Given the description of an element on the screen output the (x, y) to click on. 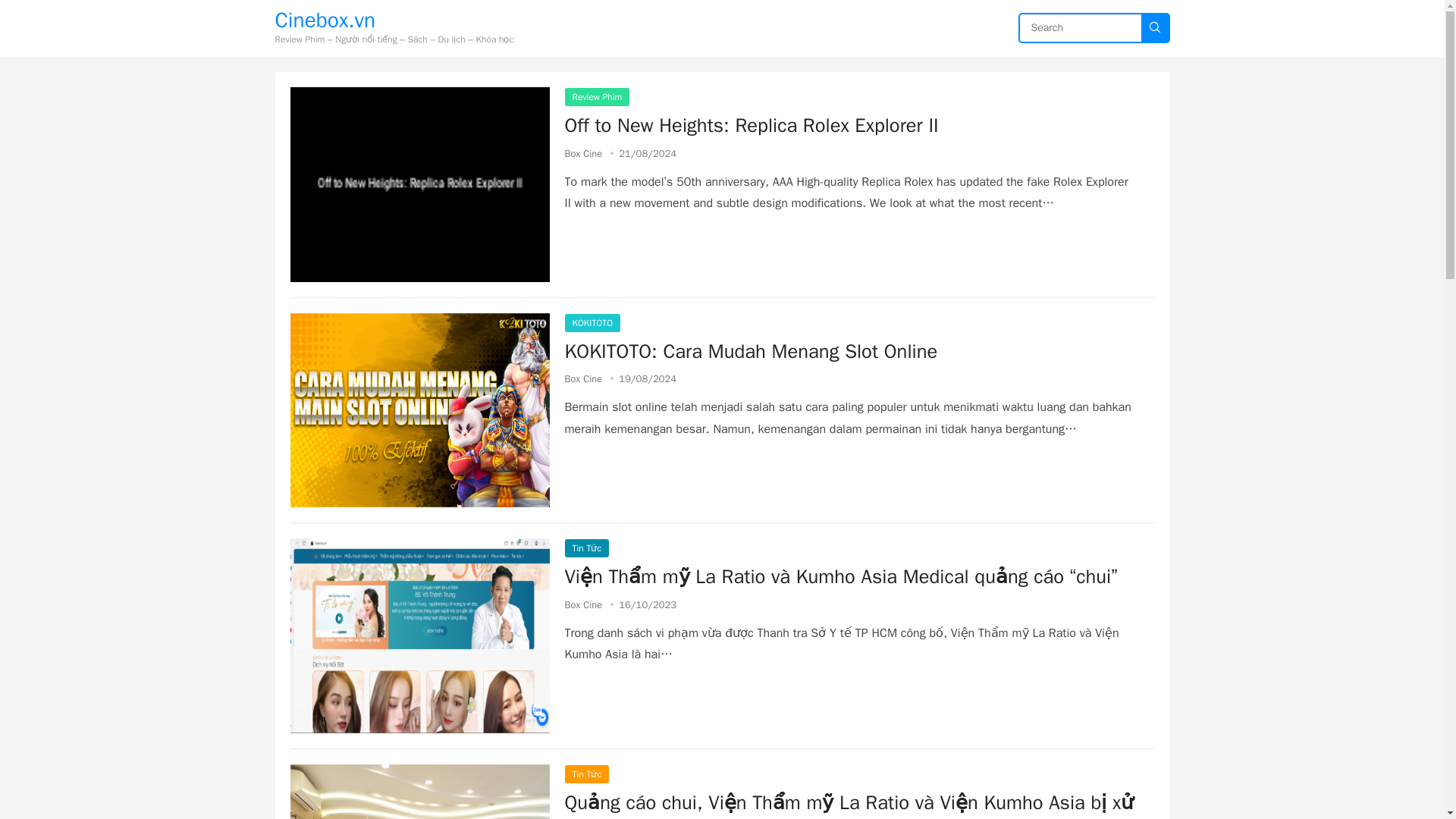
Box Cine (583, 604)
Cinebox.vn (394, 20)
KOKITOTO (592, 322)
Off to New Heights: Replica Rolex Explorer II (750, 125)
Box Cine (583, 378)
Review Phim (596, 96)
KOKITOTO: Cara Mudah Menang Slot Online (750, 350)
KOKITOTO: Cara Mudah Menang Slot Online 4 (418, 409)
Box Cine (583, 153)
